Given the description of an element on the screen output the (x, y) to click on. 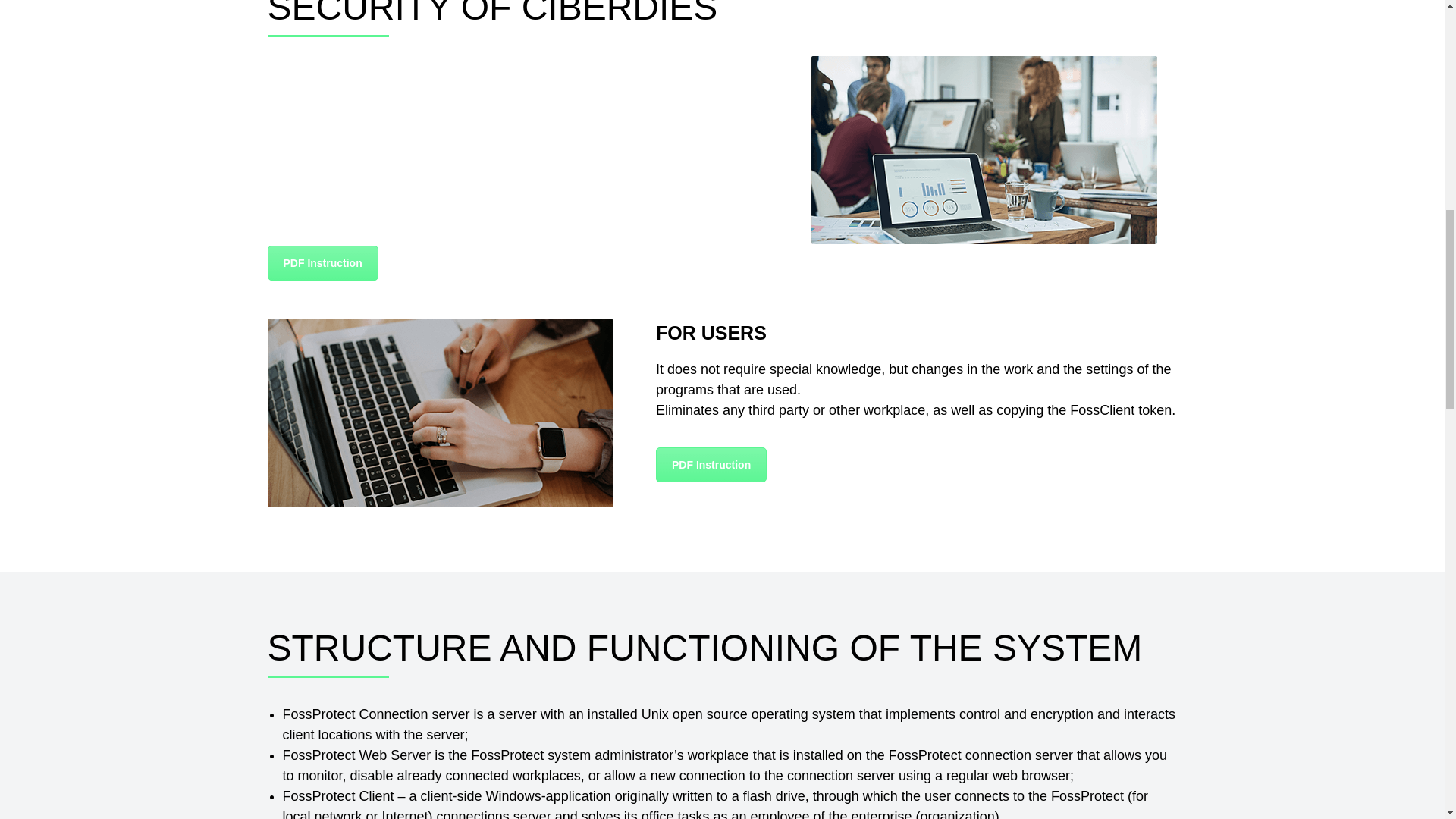
PDF Instruction (711, 464)
PDF Instruction (321, 262)
